Given the description of an element on the screen output the (x, y) to click on. 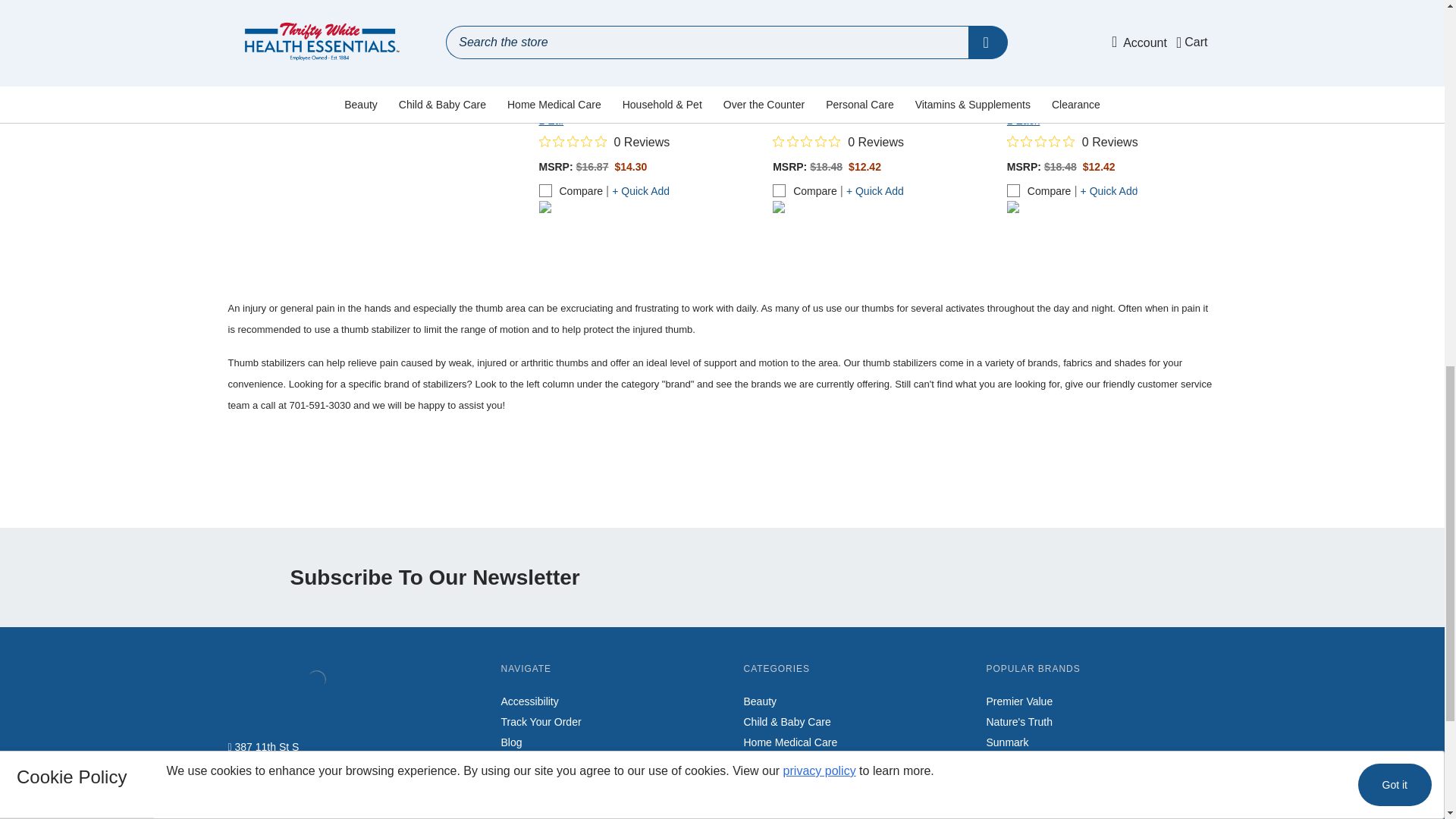
0 Reviews (1072, 142)
0 Reviews (838, 142)
0 Reviews (603, 142)
